Given the description of an element on the screen output the (x, y) to click on. 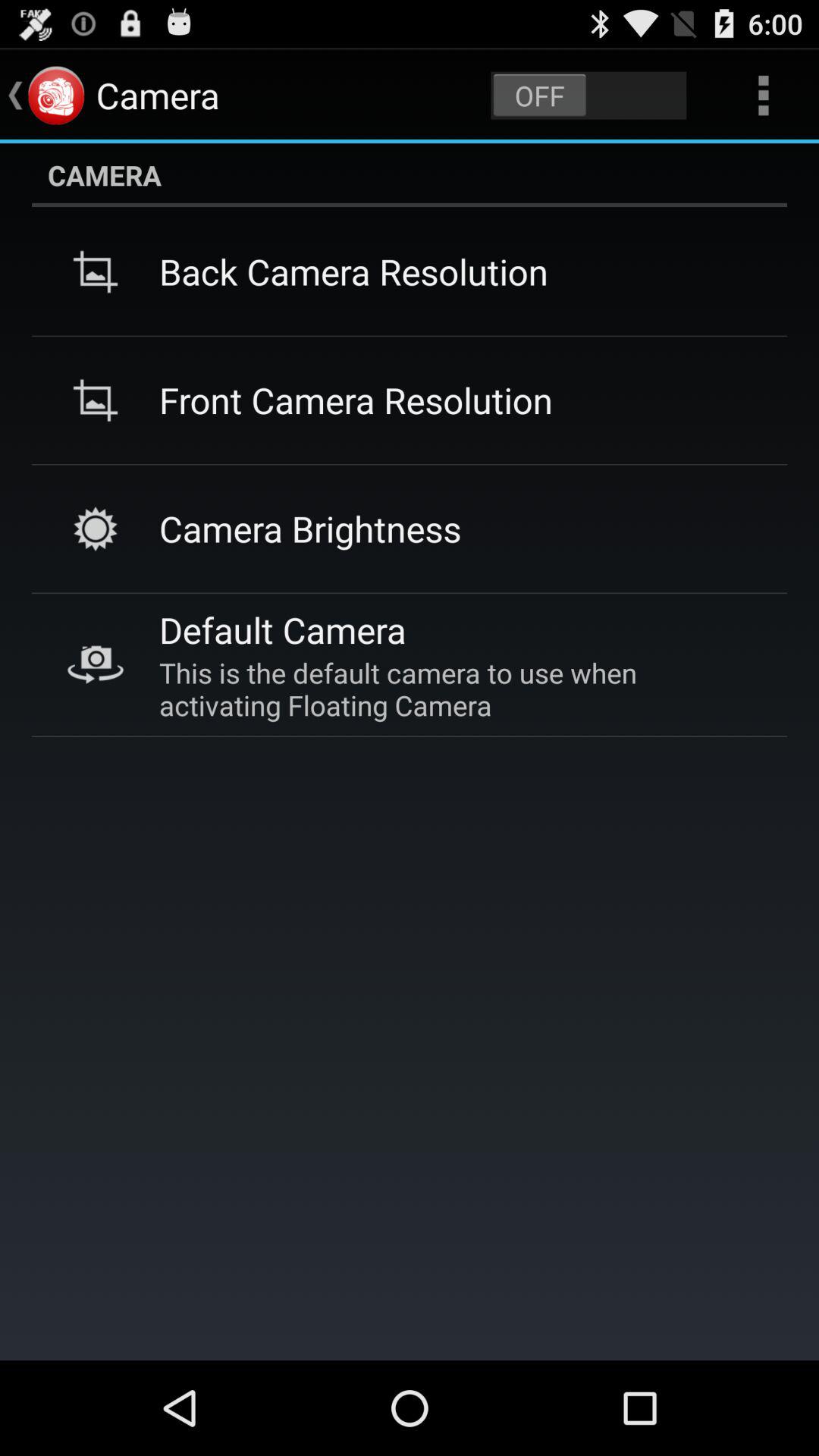
turn on the item above the default camera (310, 528)
